Given the description of an element on the screen output the (x, y) to click on. 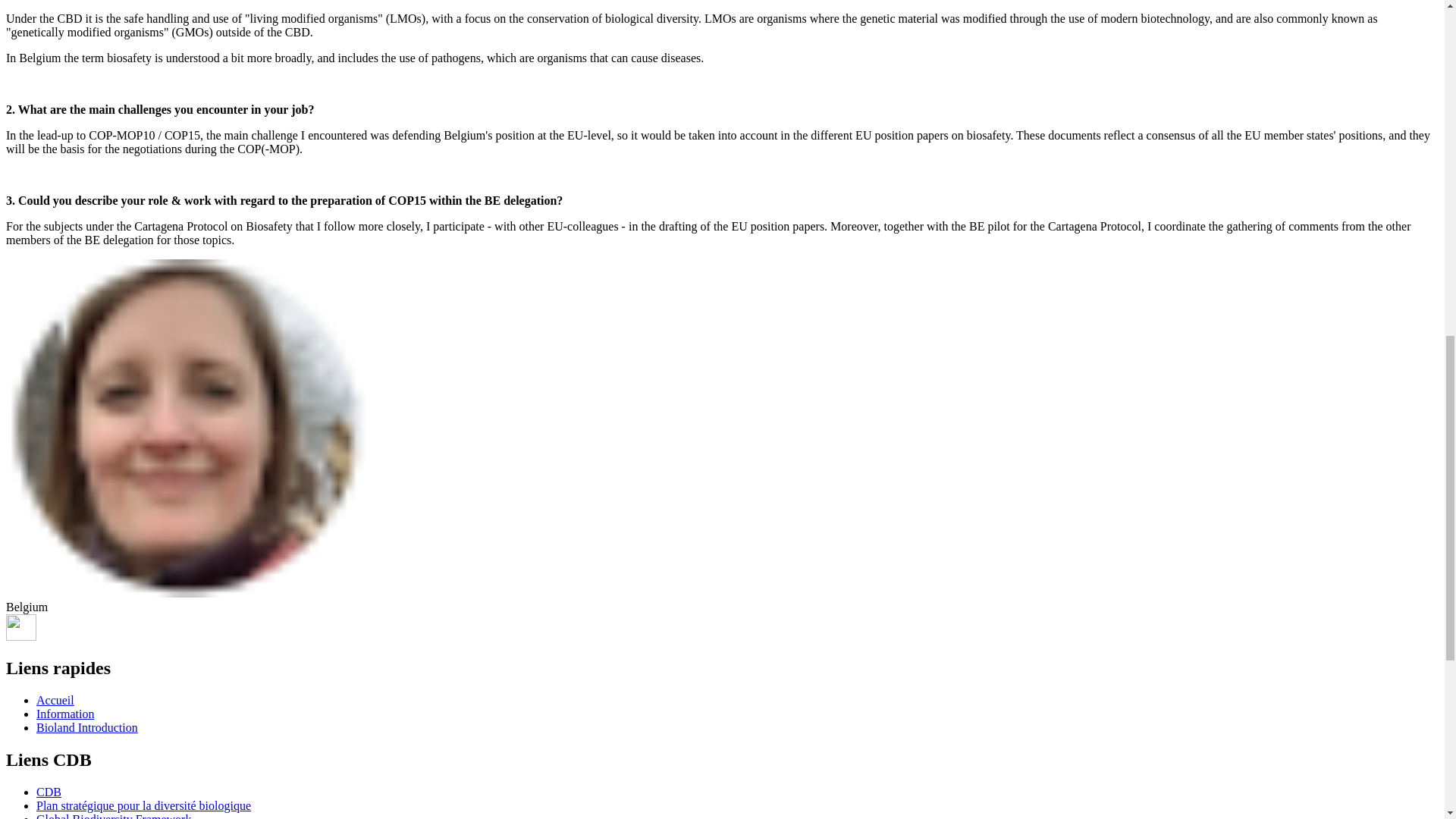
Fanny Coppens (187, 428)
